Given the description of an element on the screen output the (x, y) to click on. 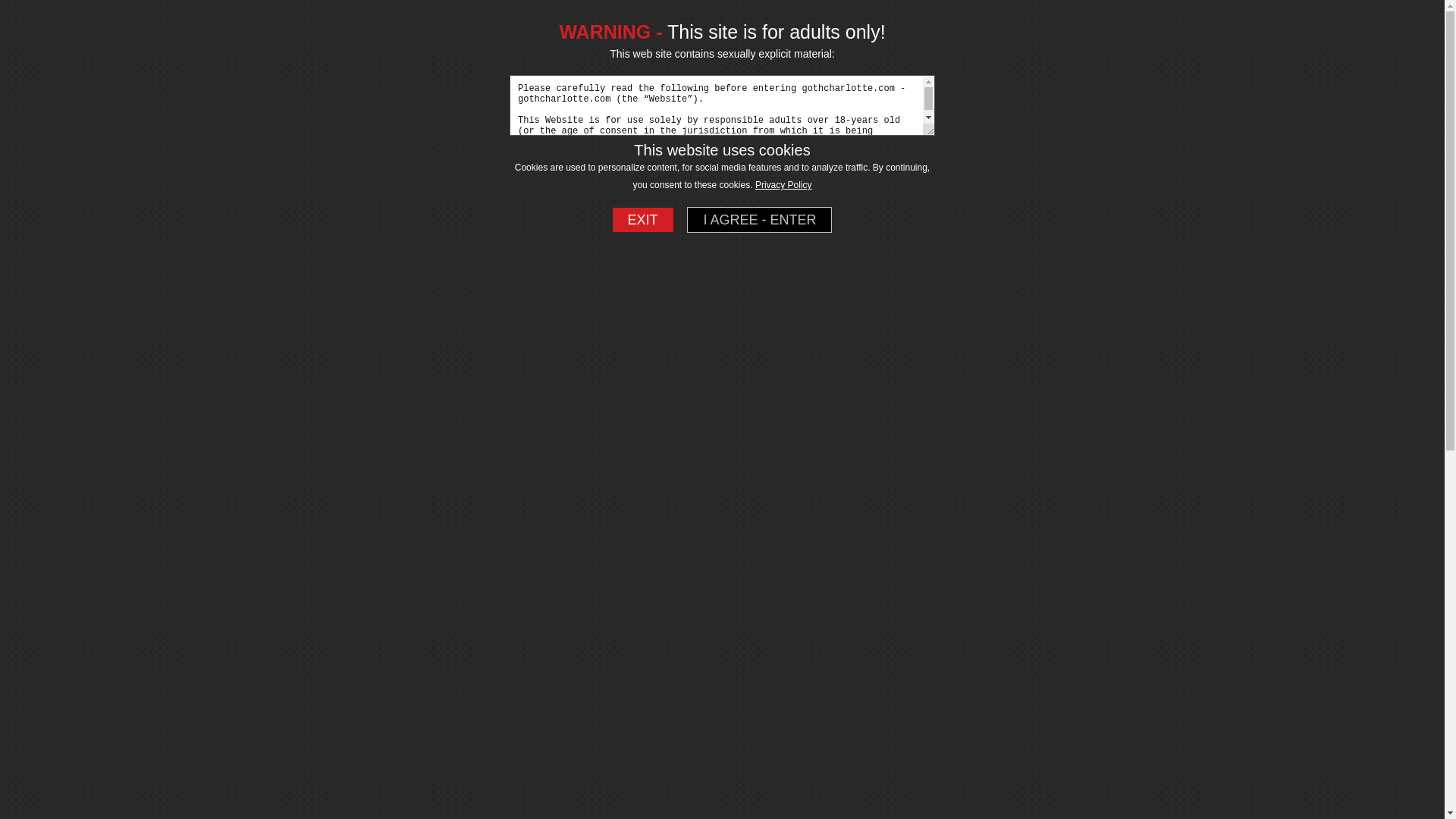
Movies (909, 780)
I AGREE - ENTER (759, 219)
Fullscreen (1026, 748)
Create a Free Account (1059, 20)
My Videos (160, 278)
Create a Free Account (1163, 20)
Sign In (1262, 20)
View Cart (1311, 19)
EXIT (642, 219)
Mute (1002, 748)
Play (418, 748)
Sign In (1262, 20)
0 (1311, 19)
Privacy Policy (783, 184)
Join Now (1059, 20)
